Given the description of an element on the screen output the (x, y) to click on. 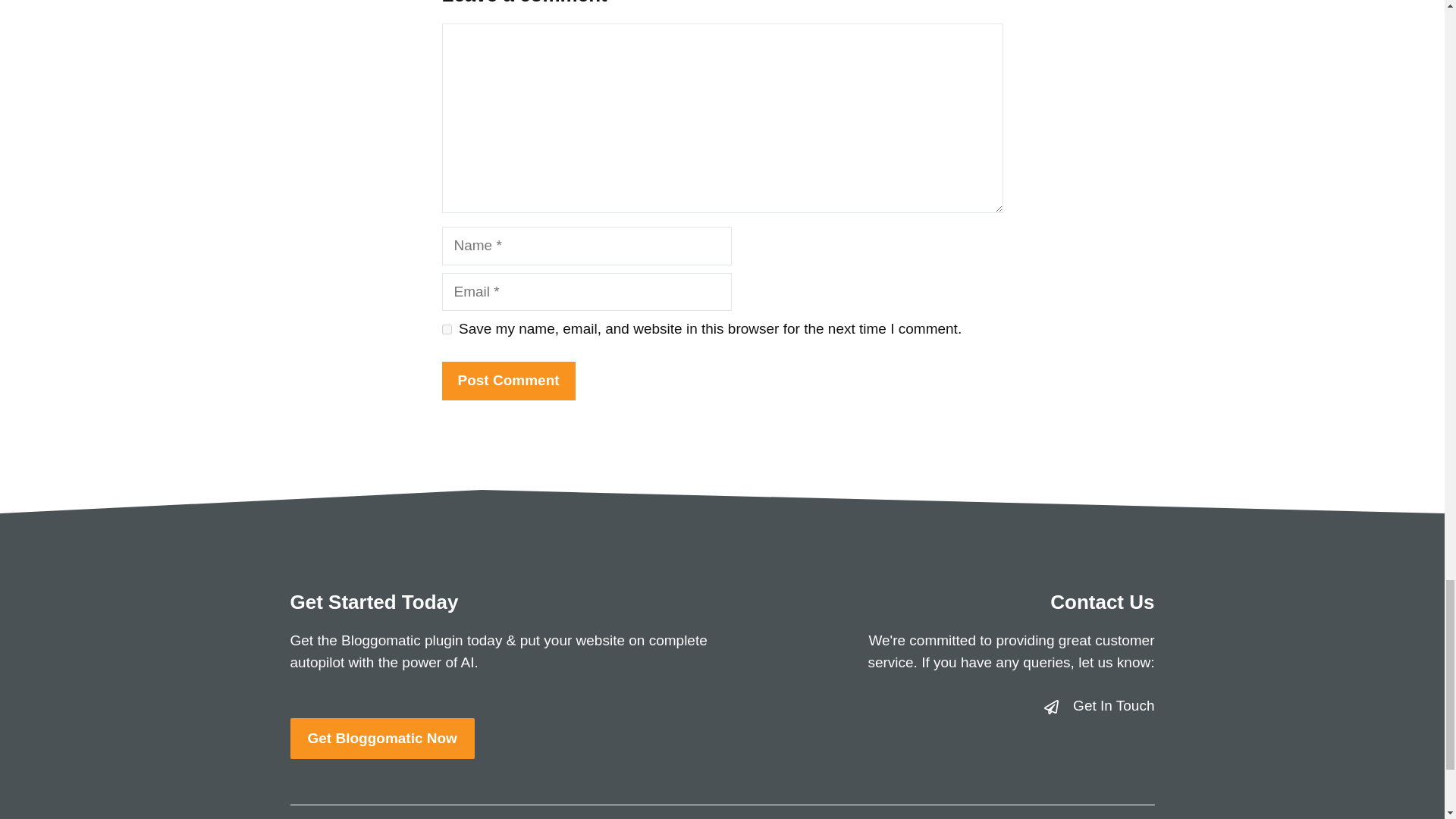
Post Comment (508, 380)
Post Comment (508, 380)
Get In Touch (1113, 705)
yes (446, 329)
Get Bloggomatic Now (381, 739)
